Given the description of an element on the screen output the (x, y) to click on. 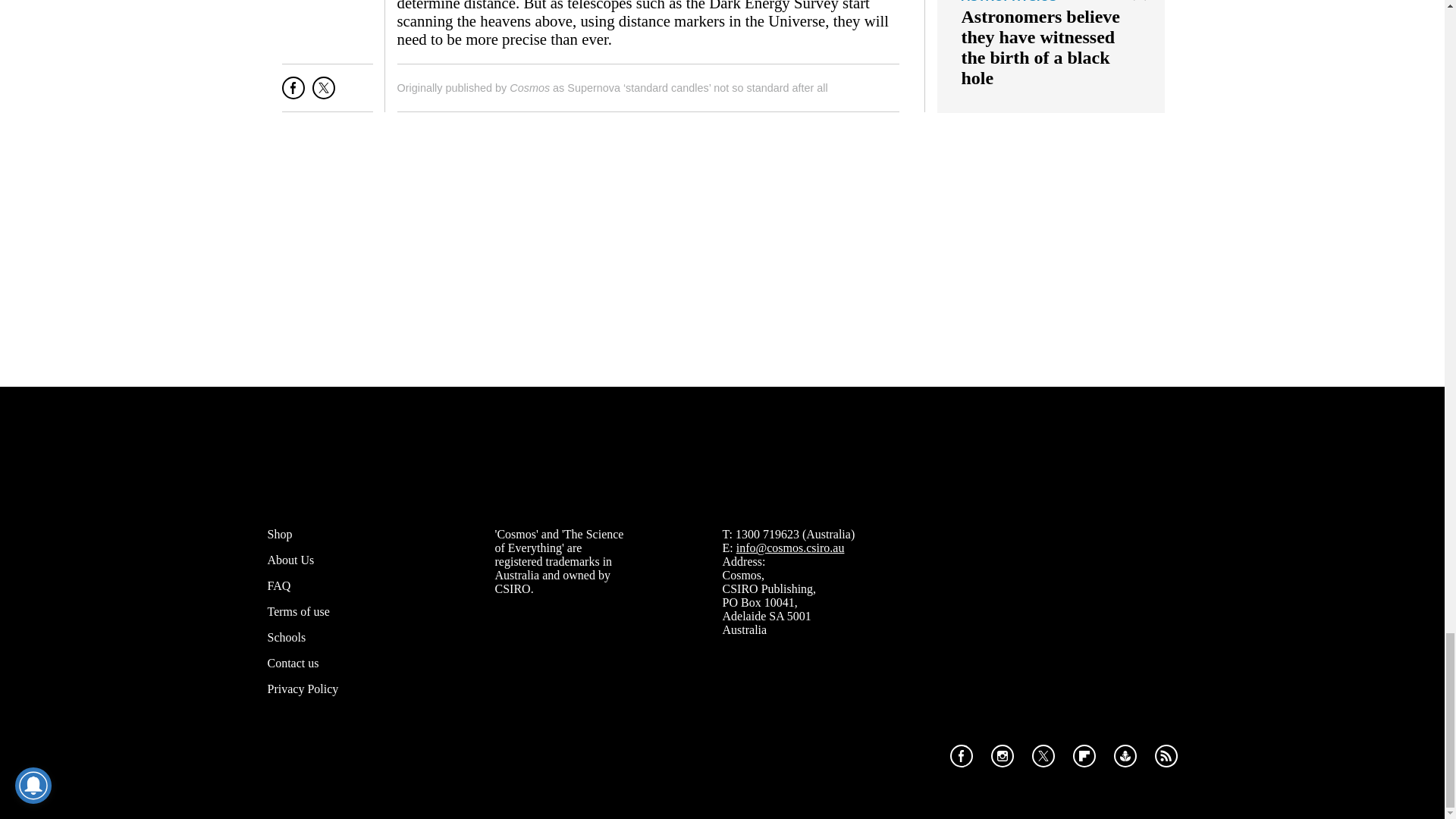
Share on Facebook (293, 93)
Tweet (323, 93)
Cosmos (529, 87)
